Given the description of an element on the screen output the (x, y) to click on. 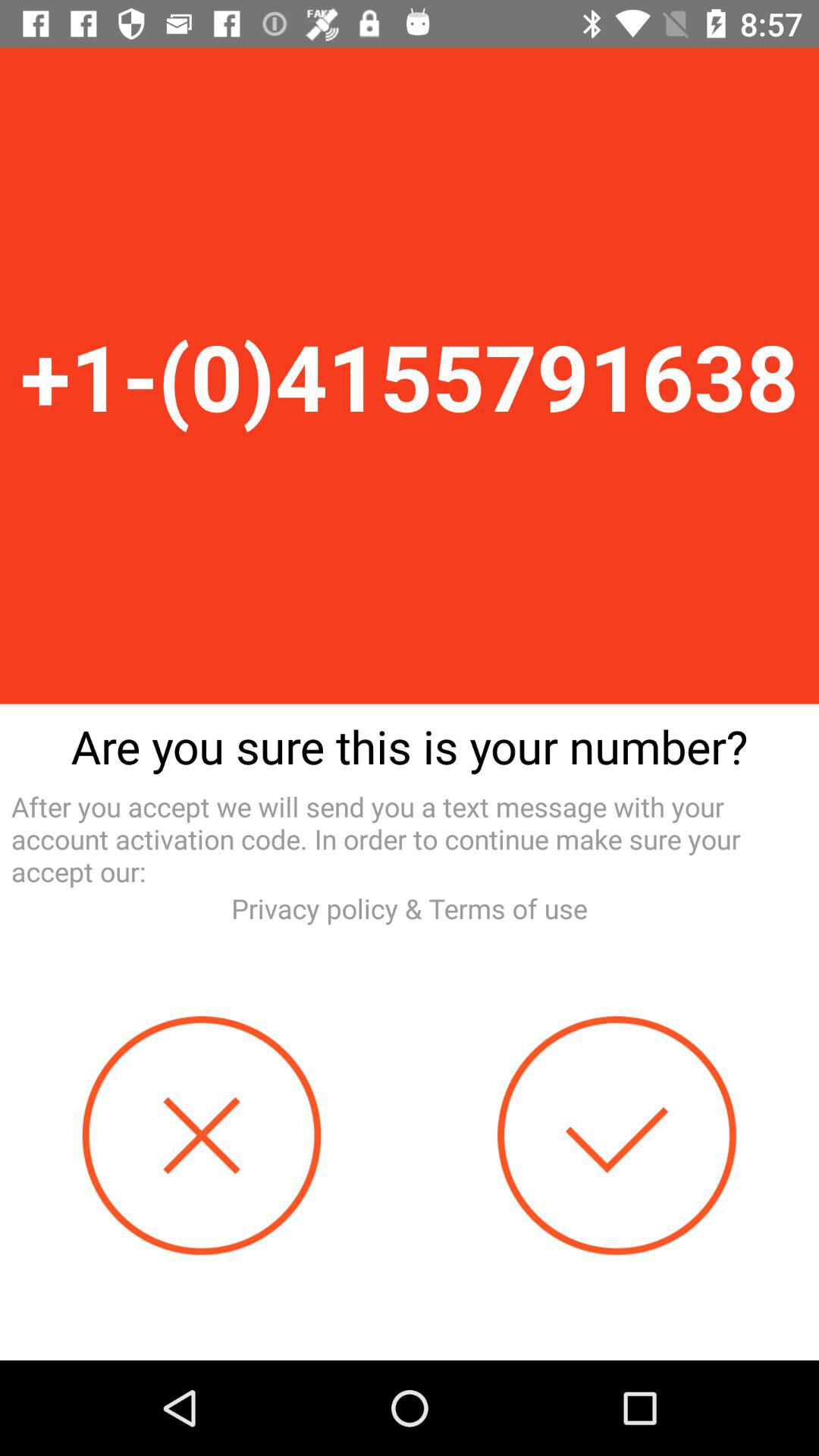
open button at the bottom left corner (201, 1135)
